Given the description of an element on the screen output the (x, y) to click on. 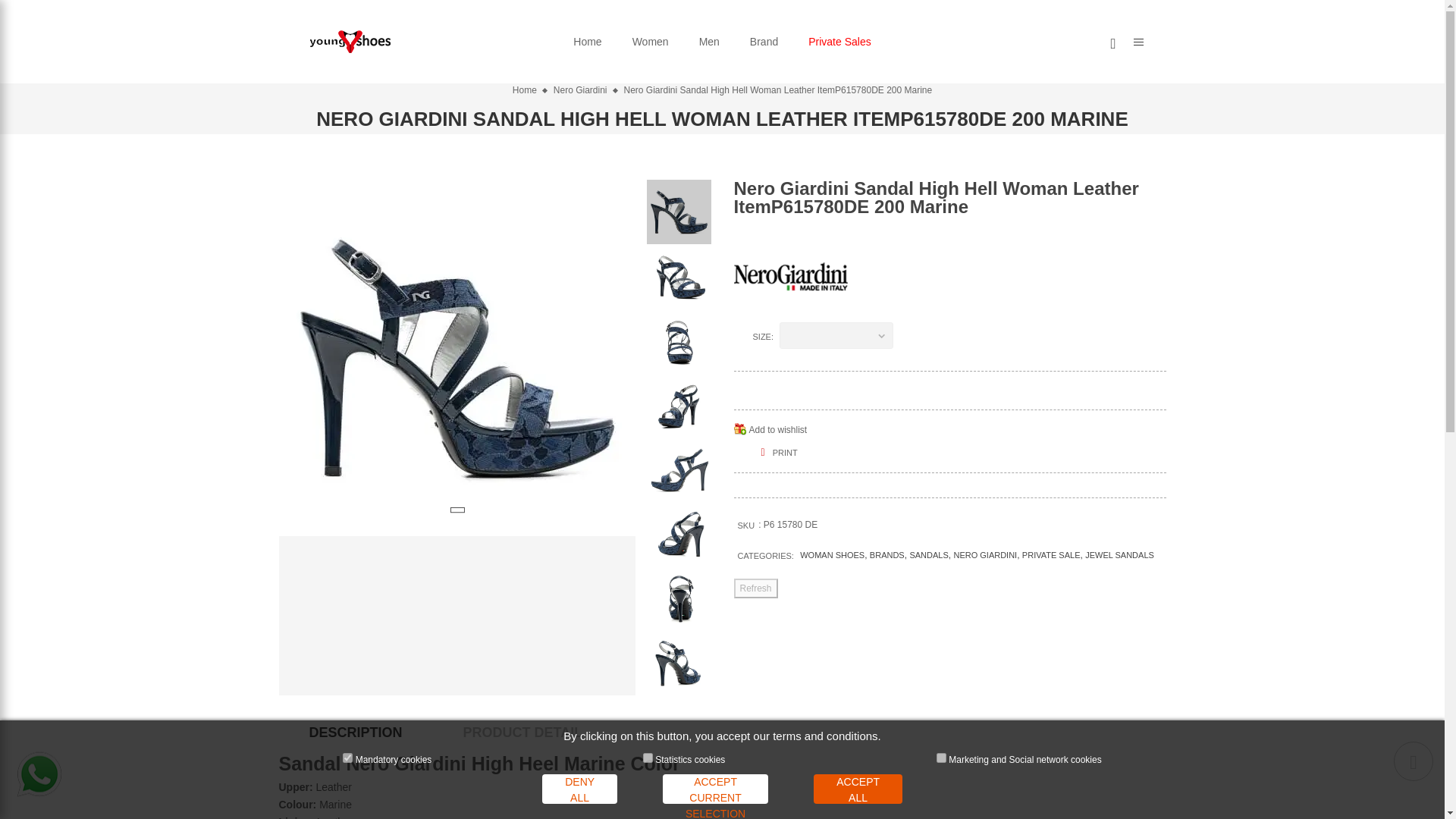
Home (586, 41)
Refresh (755, 588)
Home (586, 41)
on (347, 757)
on (941, 757)
on (647, 757)
Women (650, 41)
Women (650, 41)
